Given the description of an element on the screen output the (x, y) to click on. 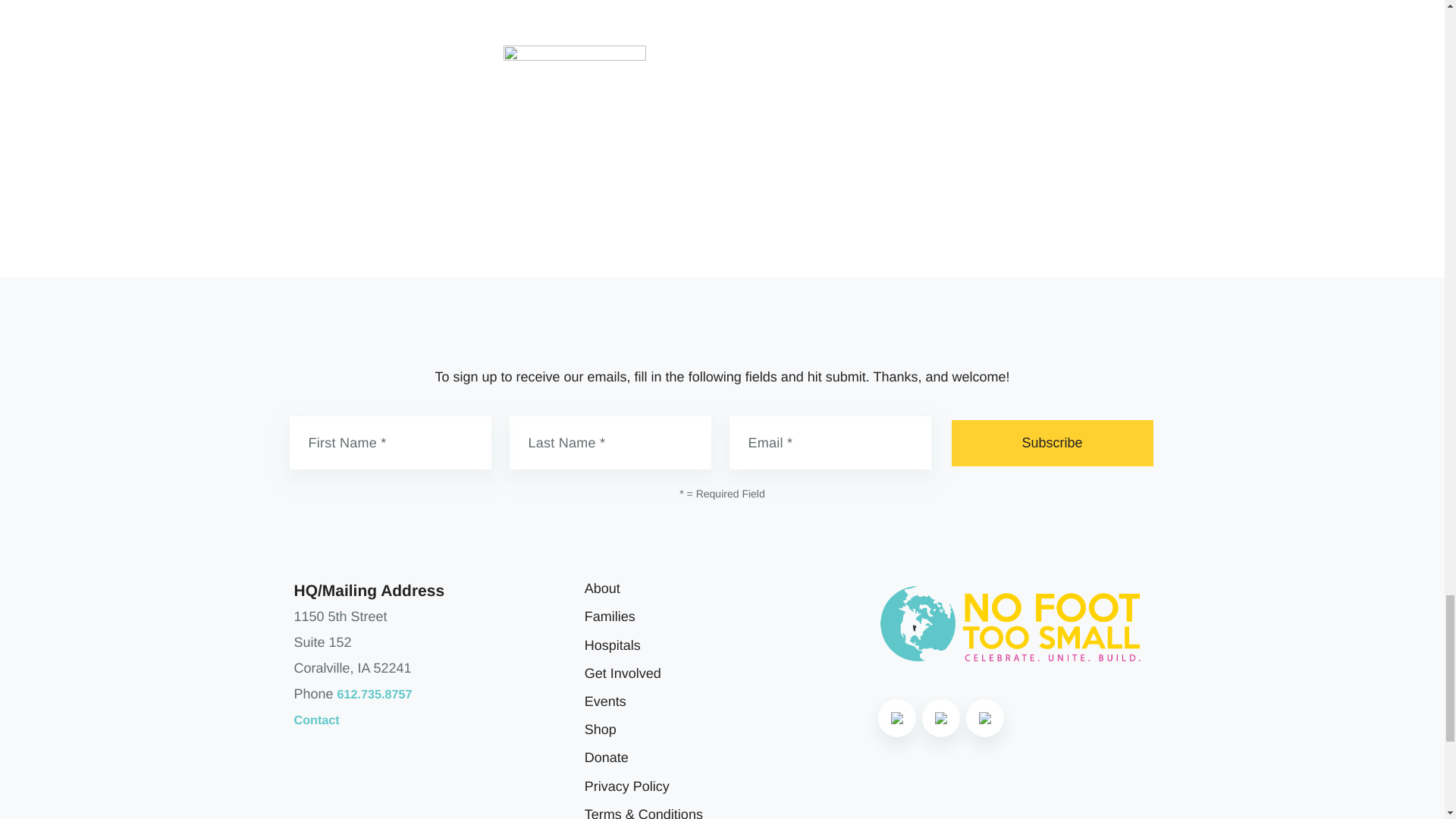
logo (1012, 624)
Subscribe (1051, 443)
